Given the description of an element on the screen output the (x, y) to click on. 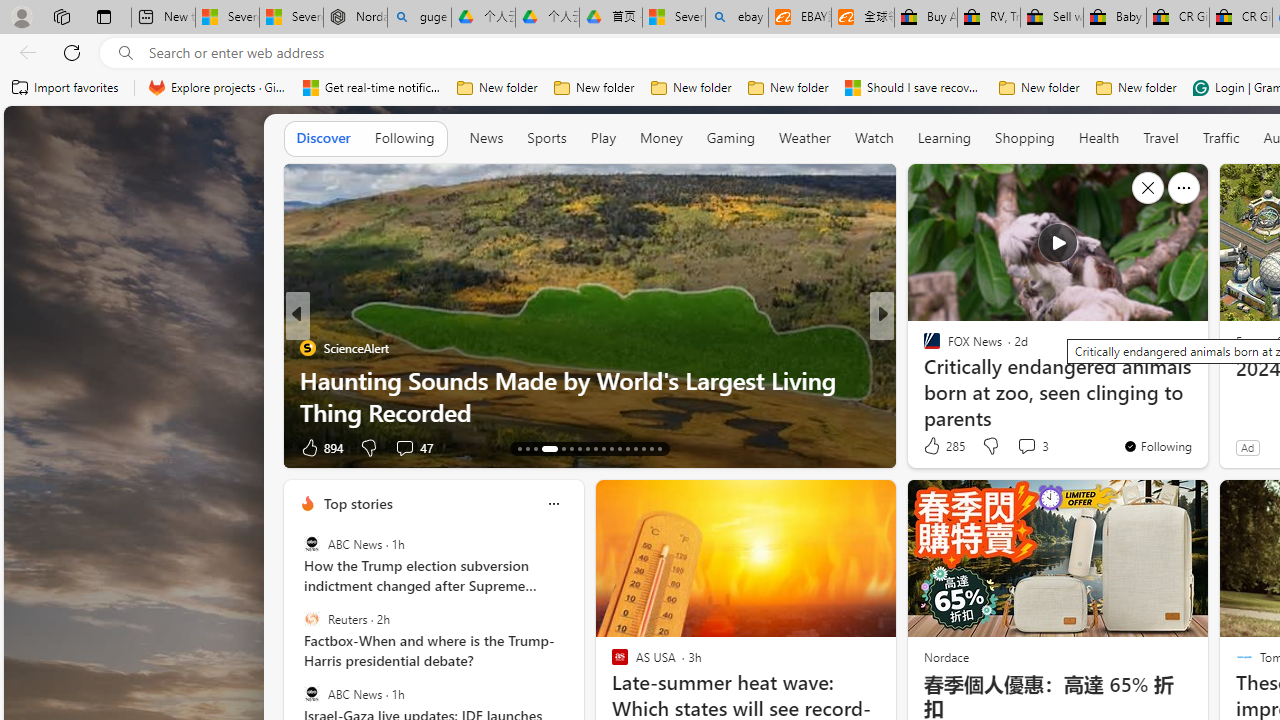
AutomationID: tab-22 (603, 448)
Following (404, 138)
31 Like (934, 447)
Top stories (357, 503)
AutomationID: tab-39 (635, 448)
AutomationID: tab-15 (535, 448)
View comments 167 Comment (1025, 447)
Sports (546, 138)
22 Like (934, 447)
Storyful (923, 347)
Buy Auto Parts & Accessories | eBay (925, 17)
Ad (1247, 447)
TechRadar (923, 347)
View comments 6 Comment (1026, 447)
View comments 2 Comment (1014, 447)
